Given the description of an element on the screen output the (x, y) to click on. 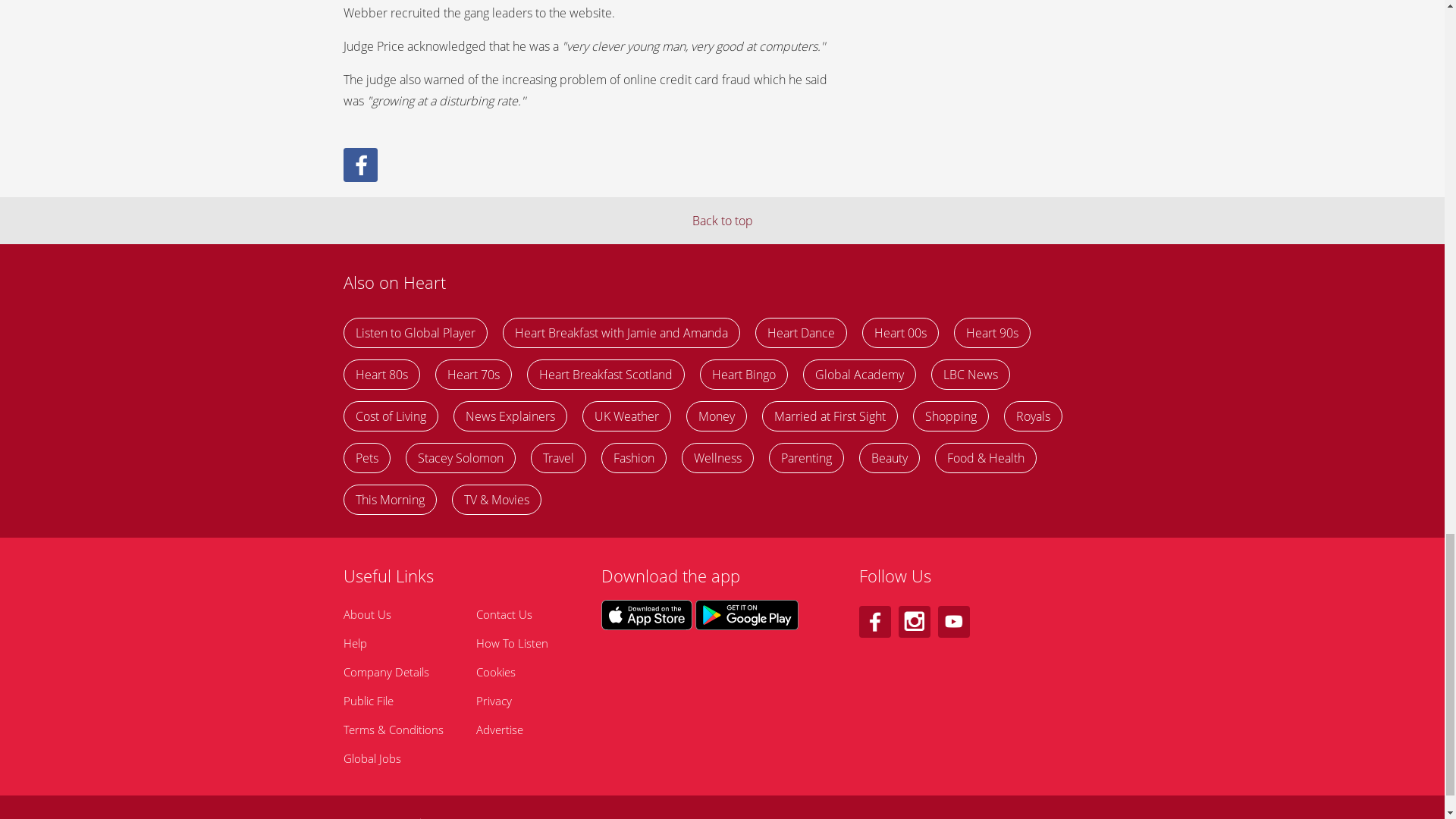
Follow Heart on Youtube (953, 622)
Follow Heart on Instagram (914, 622)
Back to top (721, 220)
Follow Heart on Facebook (874, 622)
